Given the description of an element on the screen output the (x, y) to click on. 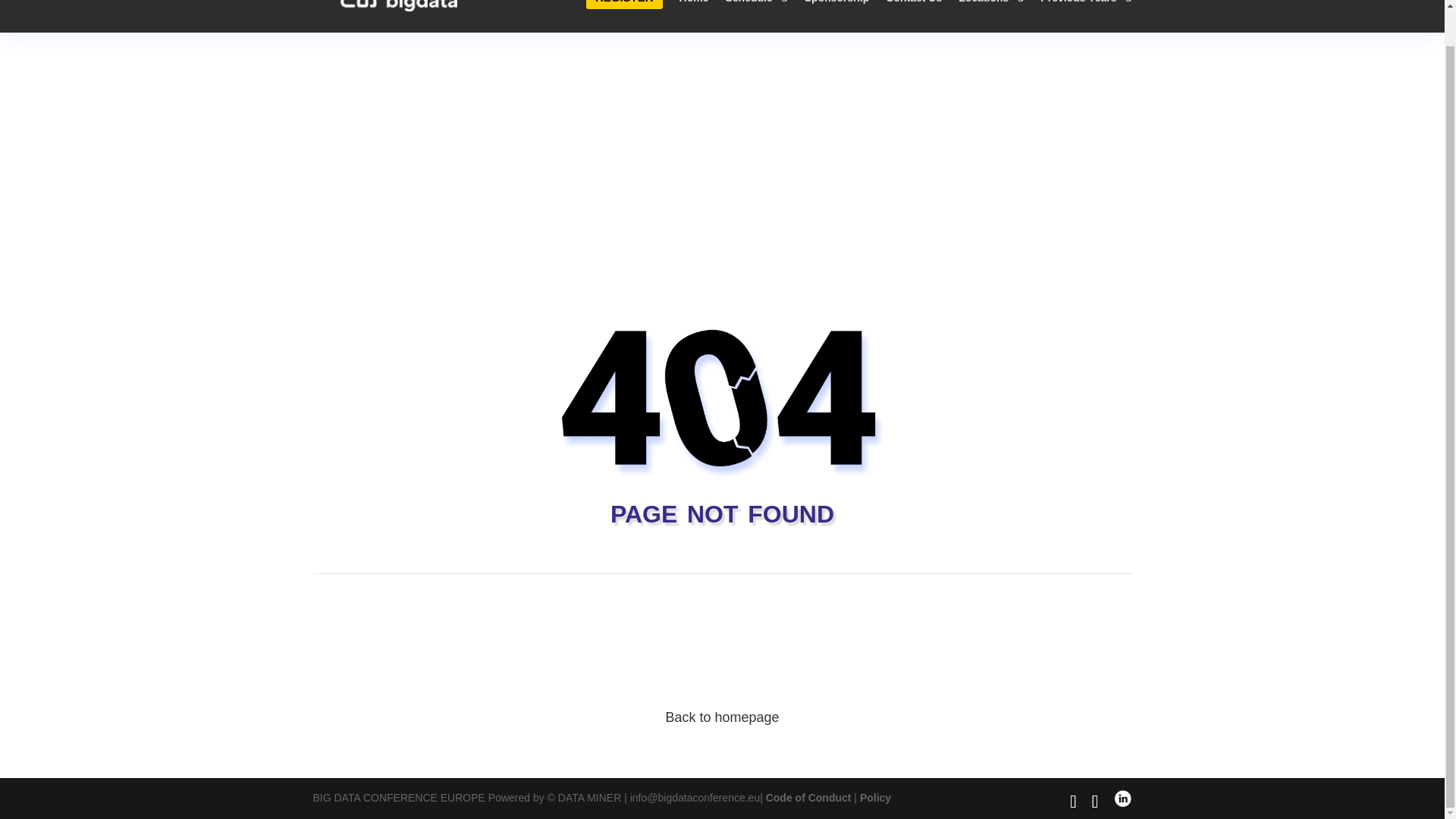
Home (694, 16)
Code of Conduct (808, 797)
Schedule (756, 16)
Sponsorship (837, 16)
Previous Years (1086, 16)
Policy (875, 797)
Locations (990, 16)
REGISTER (624, 16)
Back to homepage (721, 717)
Contact Us (913, 16)
